Given the description of an element on the screen output the (x, y) to click on. 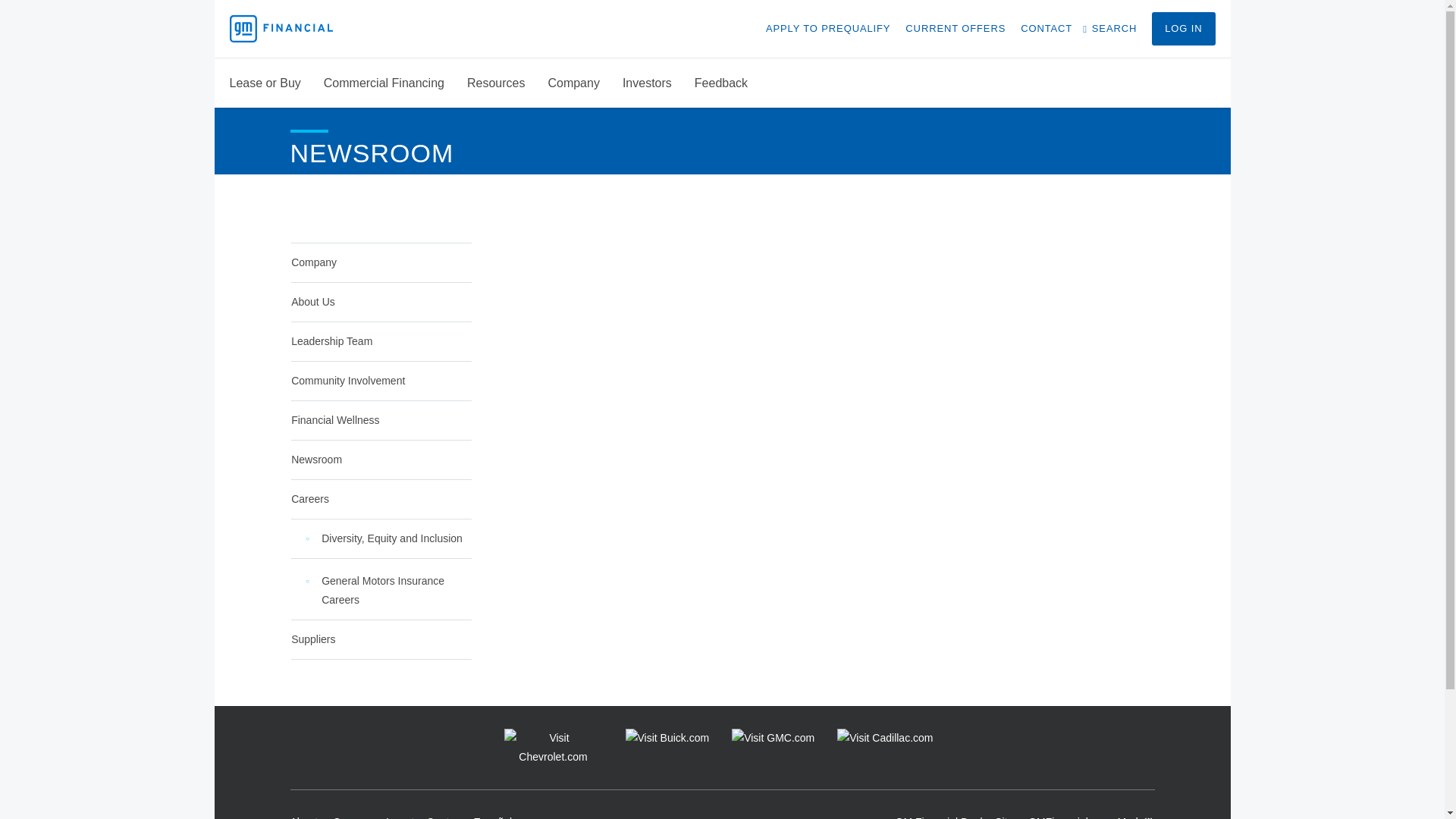
APPLY TO PREQUALIFY (827, 28)
CURRENT OFFERS (955, 28)
CONTACT (1045, 28)
LOG IN (1182, 28)
SEARCH (1112, 28)
